Given the description of an element on the screen output the (x, y) to click on. 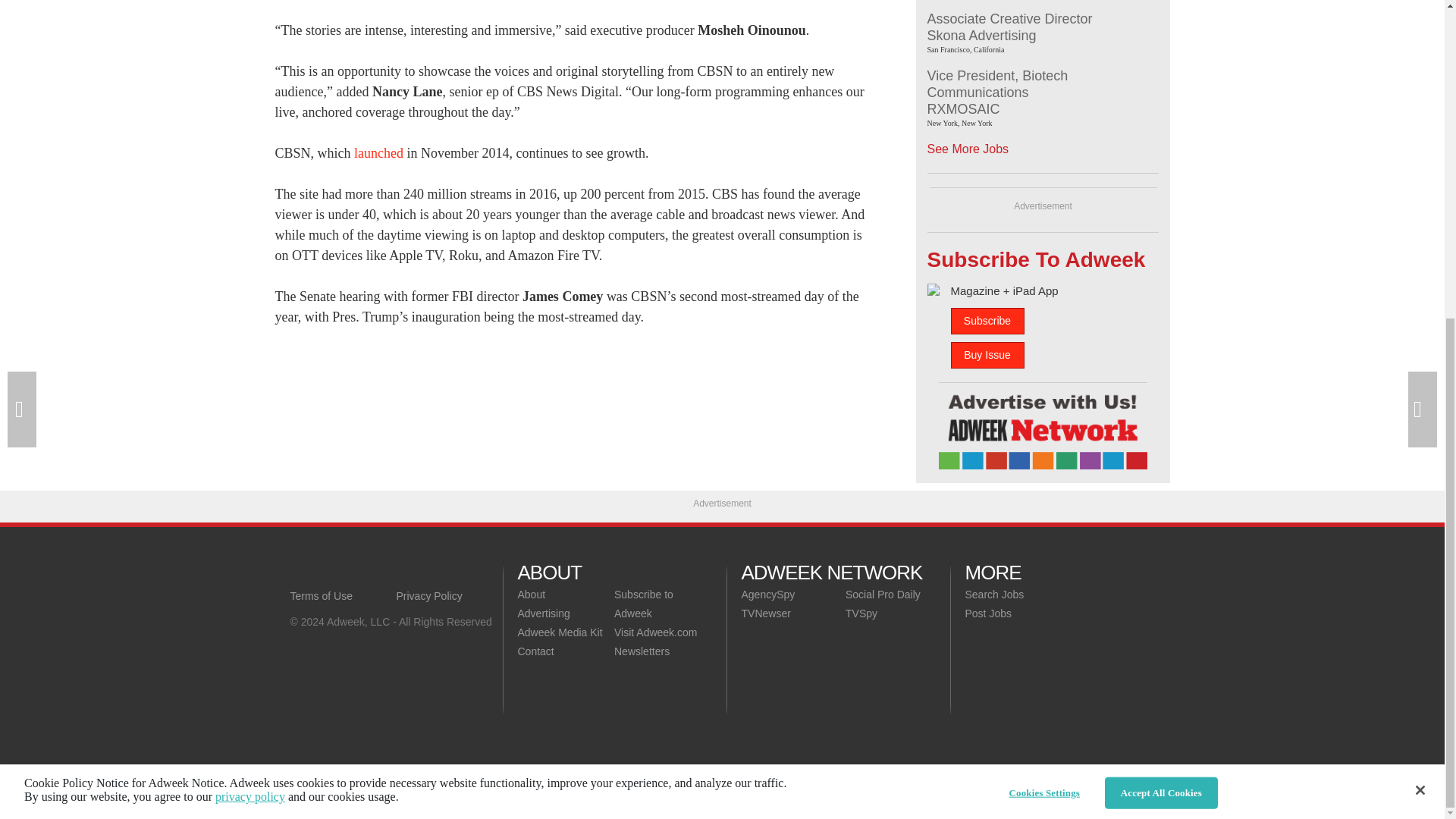
Covering national television news (395, 572)
